Given the description of an element on the screen output the (x, y) to click on. 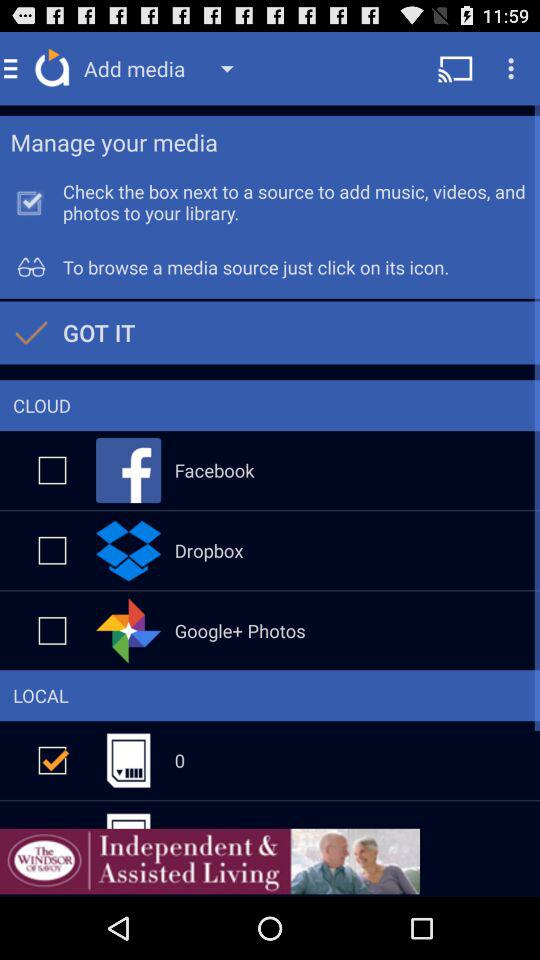
toggle google+ photos (52, 630)
